Given the description of an element on the screen output the (x, y) to click on. 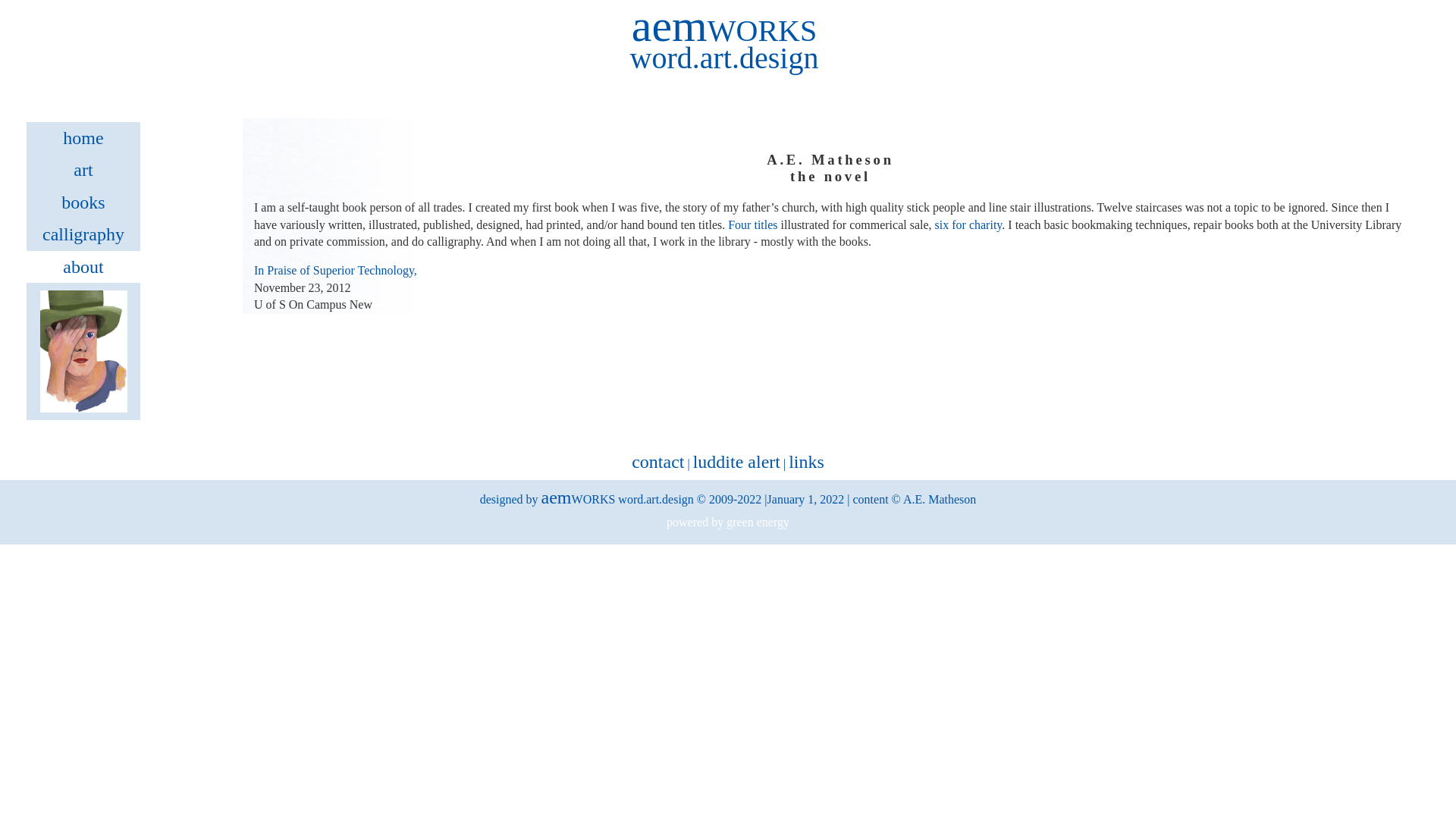
Four titles Element type: text (752, 224)
home Element type: text (83, 137)
about Element type: text (83, 266)
powered by green energy Element type: text (727, 521)
books Element type: text (83, 202)
art Element type: text (83, 169)
In Praise of Superior Technology, Element type: text (335, 269)
calligraphy Element type: text (83, 234)
links Element type: text (806, 461)
six for charity Element type: text (968, 224)
luddite alert Element type: text (736, 461)
contact Element type: text (657, 461)
